Given the description of an element on the screen output the (x, y) to click on. 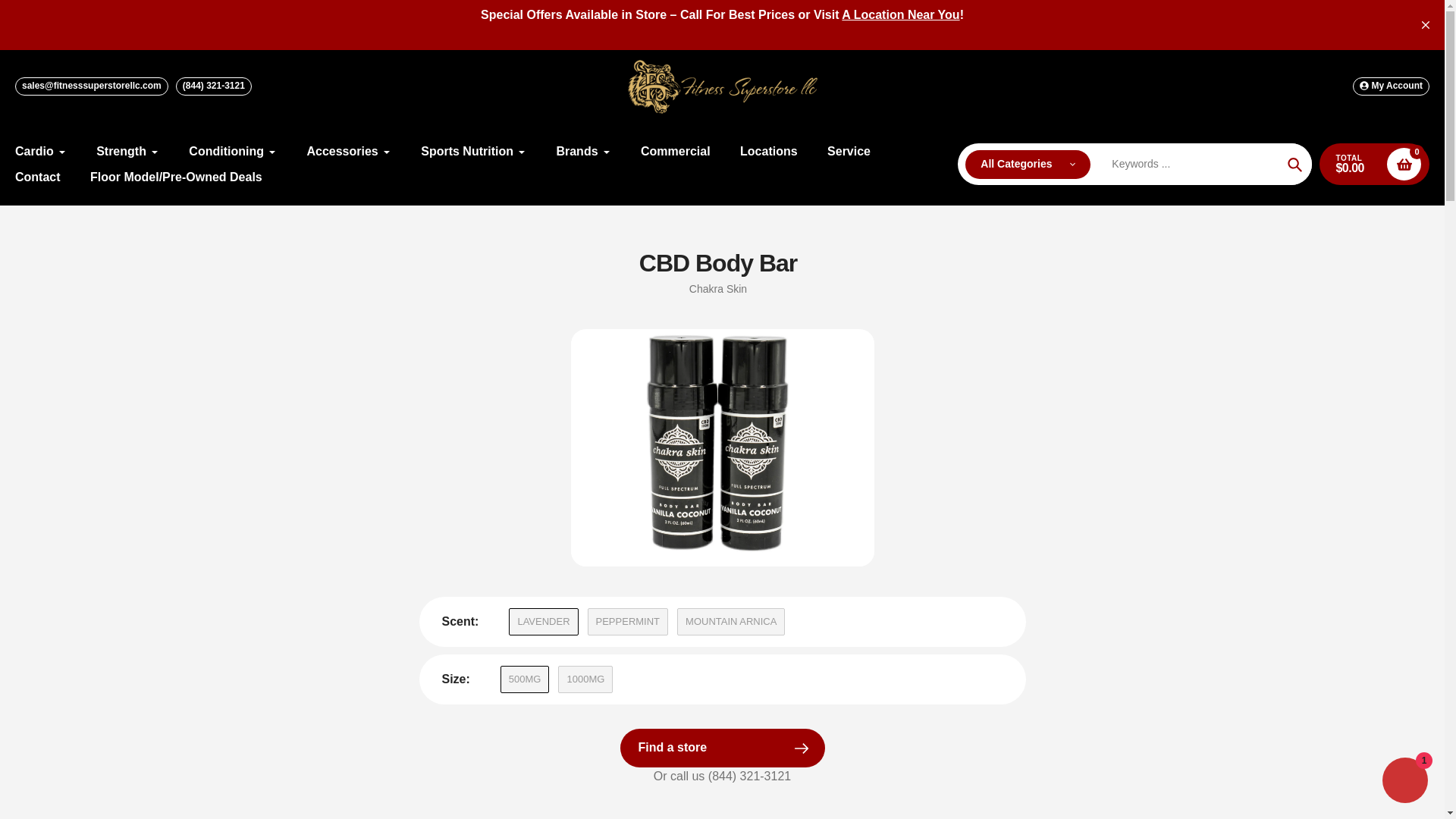
Accessories (347, 151)
Strength (127, 151)
My Account (1390, 85)
Conditioning (232, 151)
A Location Near You (900, 14)
Shopify online store chat (1404, 781)
Cardio (40, 151)
Sports Nutrition (472, 151)
Locations (900, 14)
